Given the description of an element on the screen output the (x, y) to click on. 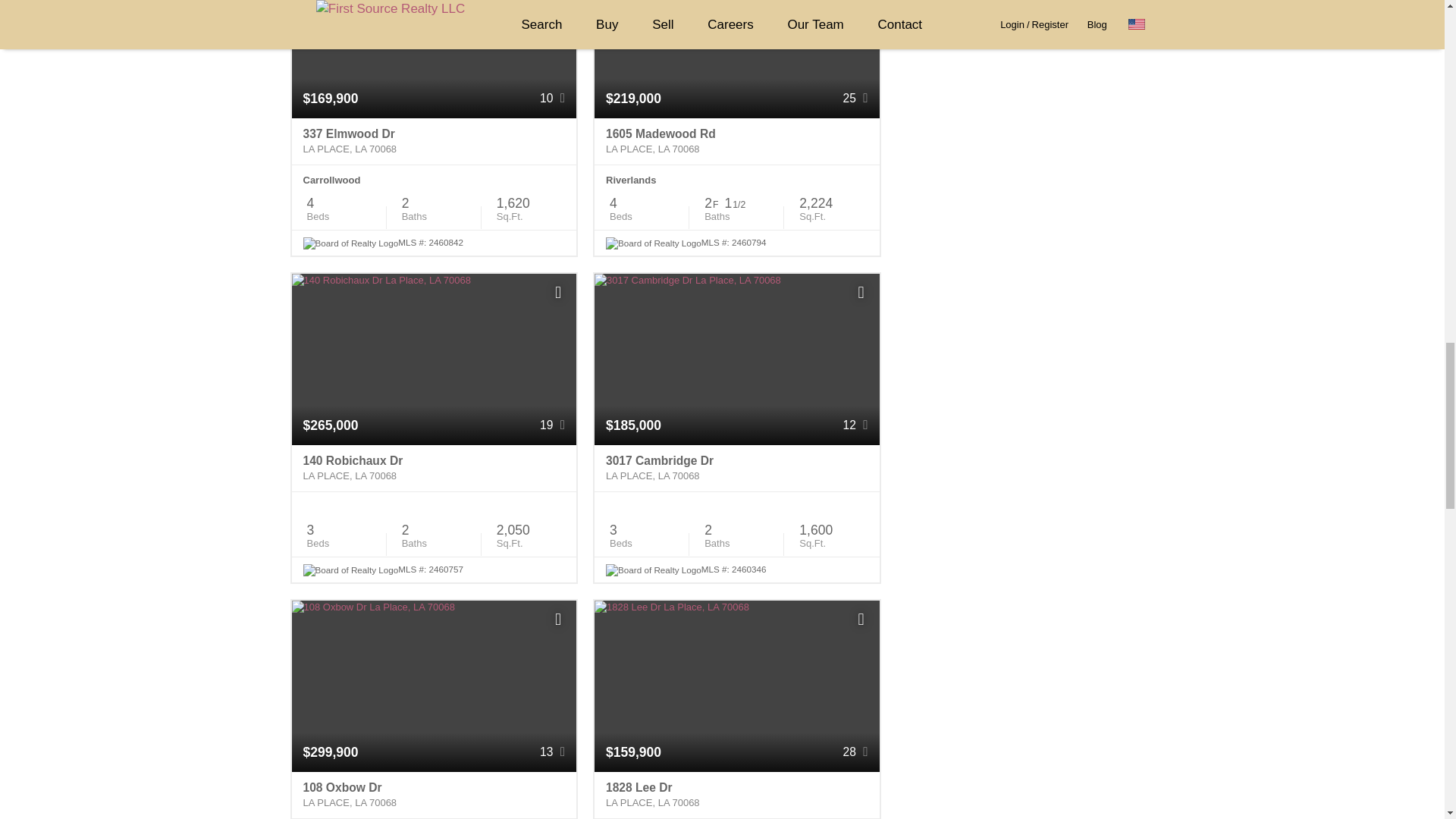
3017 Cambridge Dr La Place,  LA 70068 (736, 468)
140 Robichaux Dr La Place,  LA 70068 (433, 468)
337 Elmwood Dr La Place,  LA 70068 (433, 141)
1605 Madewood Rd La Place,  LA 70068 (736, 141)
